Given the description of an element on the screen output the (x, y) to click on. 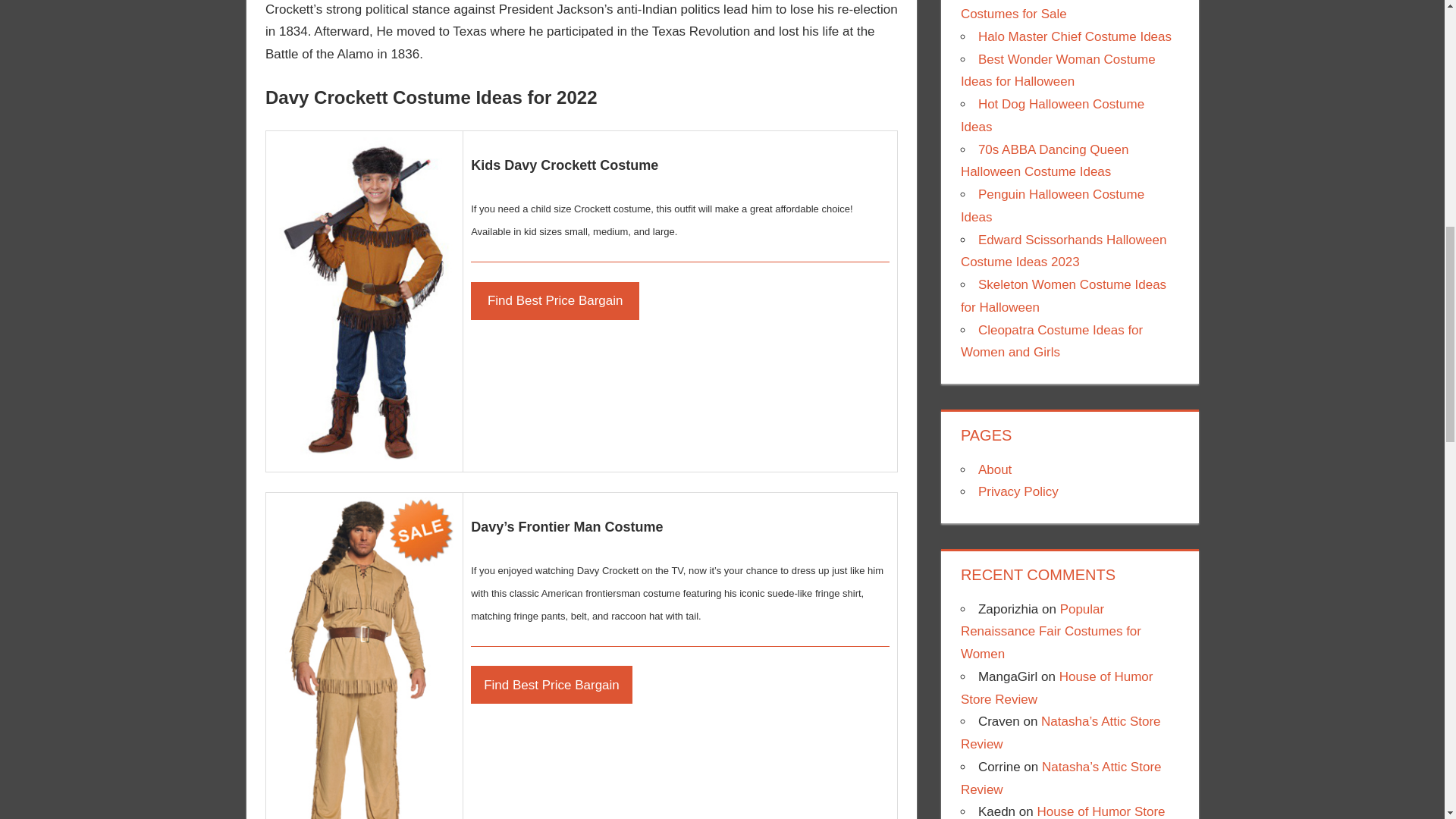
Find Best Price Bargain (550, 684)
 Find Best Price Bargain  (554, 300)
 Find Best Price Bargain  (554, 300)
Find Best Price Bargain (550, 684)
